Given the description of an element on the screen output the (x, y) to click on. 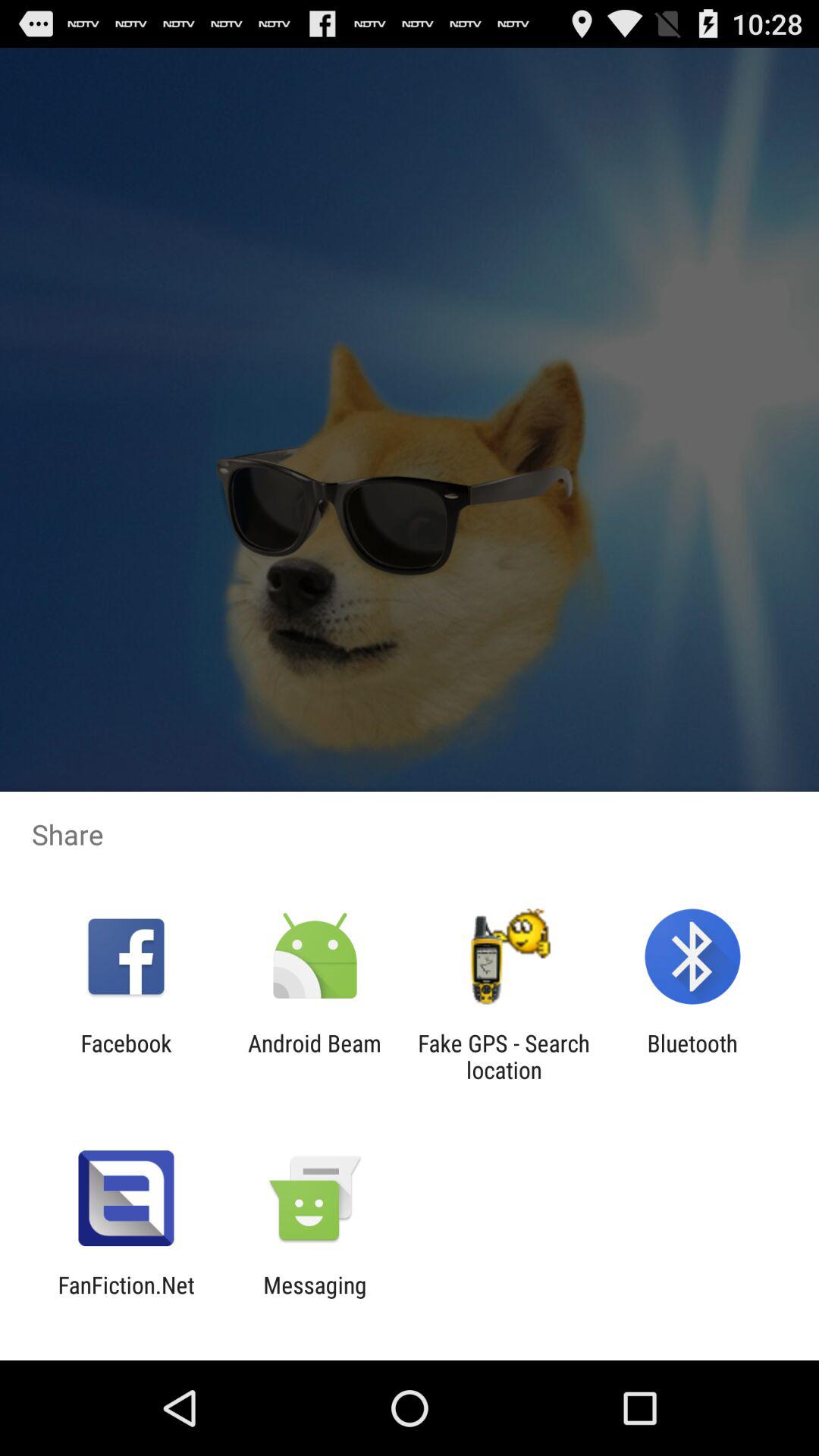
choose the app next to fanfiction.net item (314, 1298)
